Given the description of an element on the screen output the (x, y) to click on. 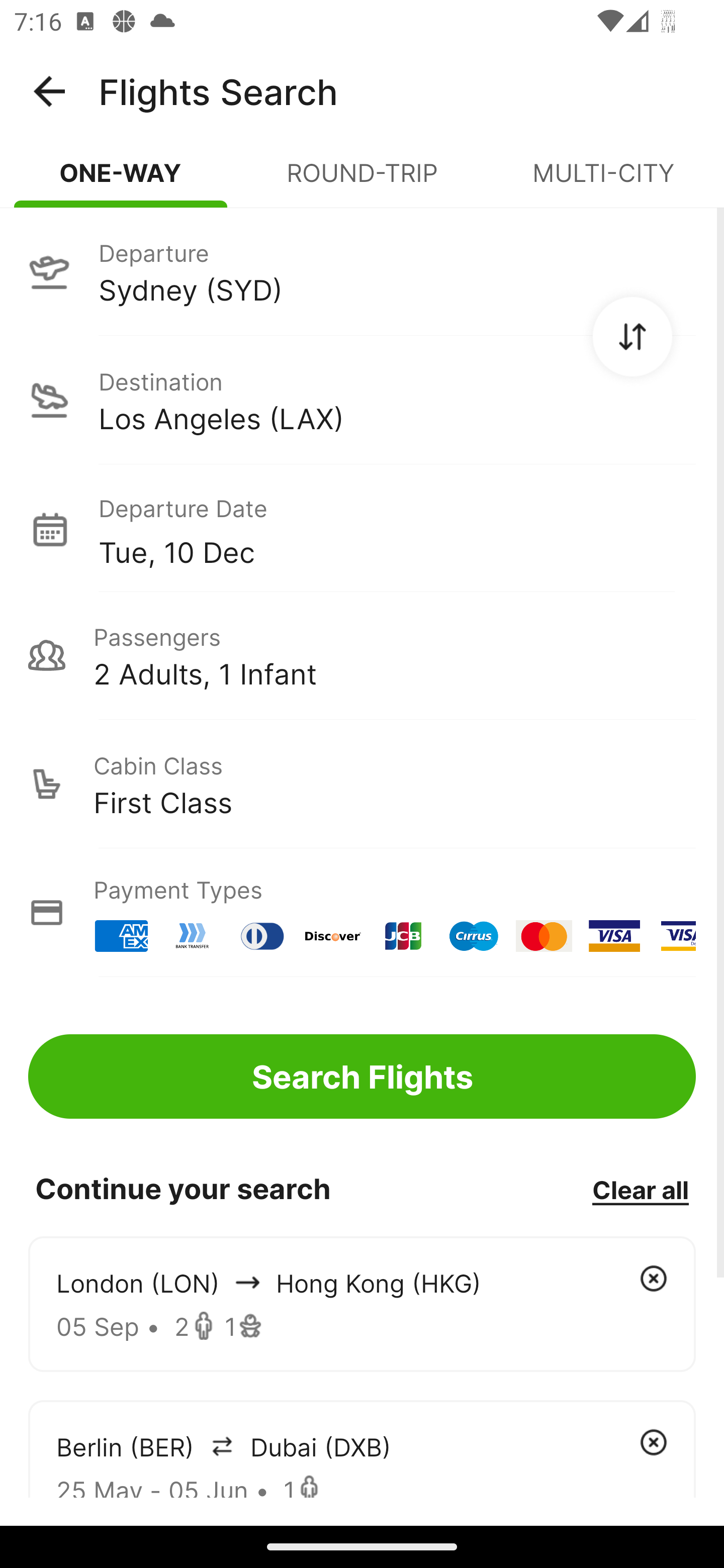
ONE-WAY (120, 180)
ROUND-TRIP (361, 180)
MULTI-CITY (603, 180)
Departure Sydney (SYD) (362, 270)
Destination Los Angeles (LAX) (362, 400)
Departure Date Tue, 10 Dec (396, 528)
Passengers 2 Adults, 1 Infant (362, 655)
Cabin Class First Class (362, 783)
Payment Types (362, 912)
Search Flights (361, 1075)
Clear all (640, 1189)
